Given the description of an element on the screen output the (x, y) to click on. 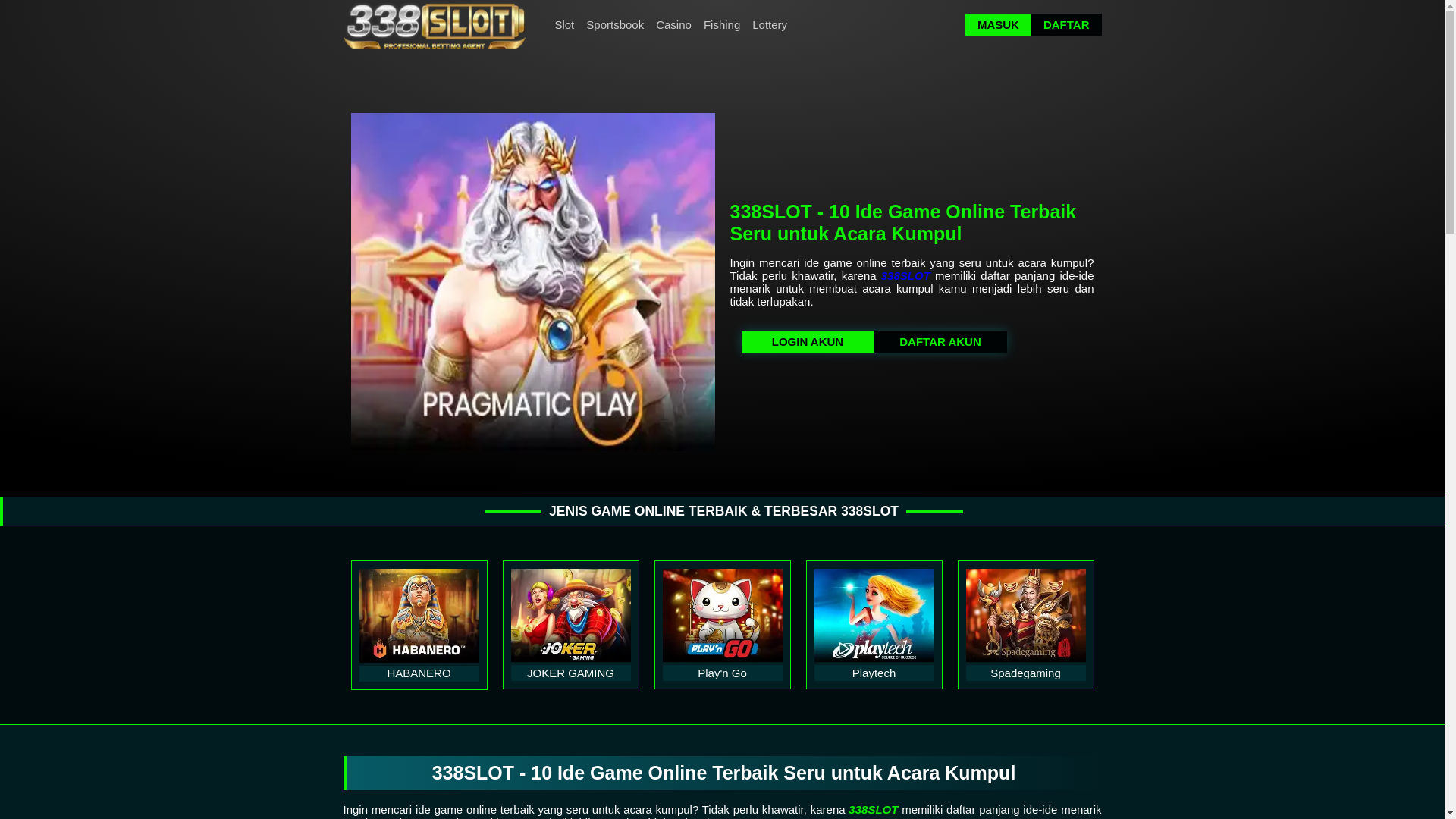
338SLOT Element type: text (905, 275)
Spadegaming Element type: hover (1025, 615)
MASUK Element type: text (998, 24)
LOGIN AKUN Element type: text (807, 341)
338SLOT Element type: text (872, 809)
DAFTAR Element type: text (1066, 24)
Bocoran RTP Slot Element type: hover (445, 24)
DAFTAR AKUN Element type: text (939, 341)
Fishing Element type: text (721, 24)
Casino Element type: text (673, 24)
Playtech Element type: hover (874, 615)
JOKER GAMING Element type: hover (570, 615)
Game mesin putar online Element type: hover (433, 24)
Lottery Element type: text (769, 24)
Bocoran Ertepe Slot Element type: hover (532, 281)
Play'n Go Element type: hover (722, 615)
HABANERO Element type: hover (419, 615)
Slot Element type: text (564, 24)
Sportsbook Element type: text (614, 24)
